Given the description of an element on the screen output the (x, y) to click on. 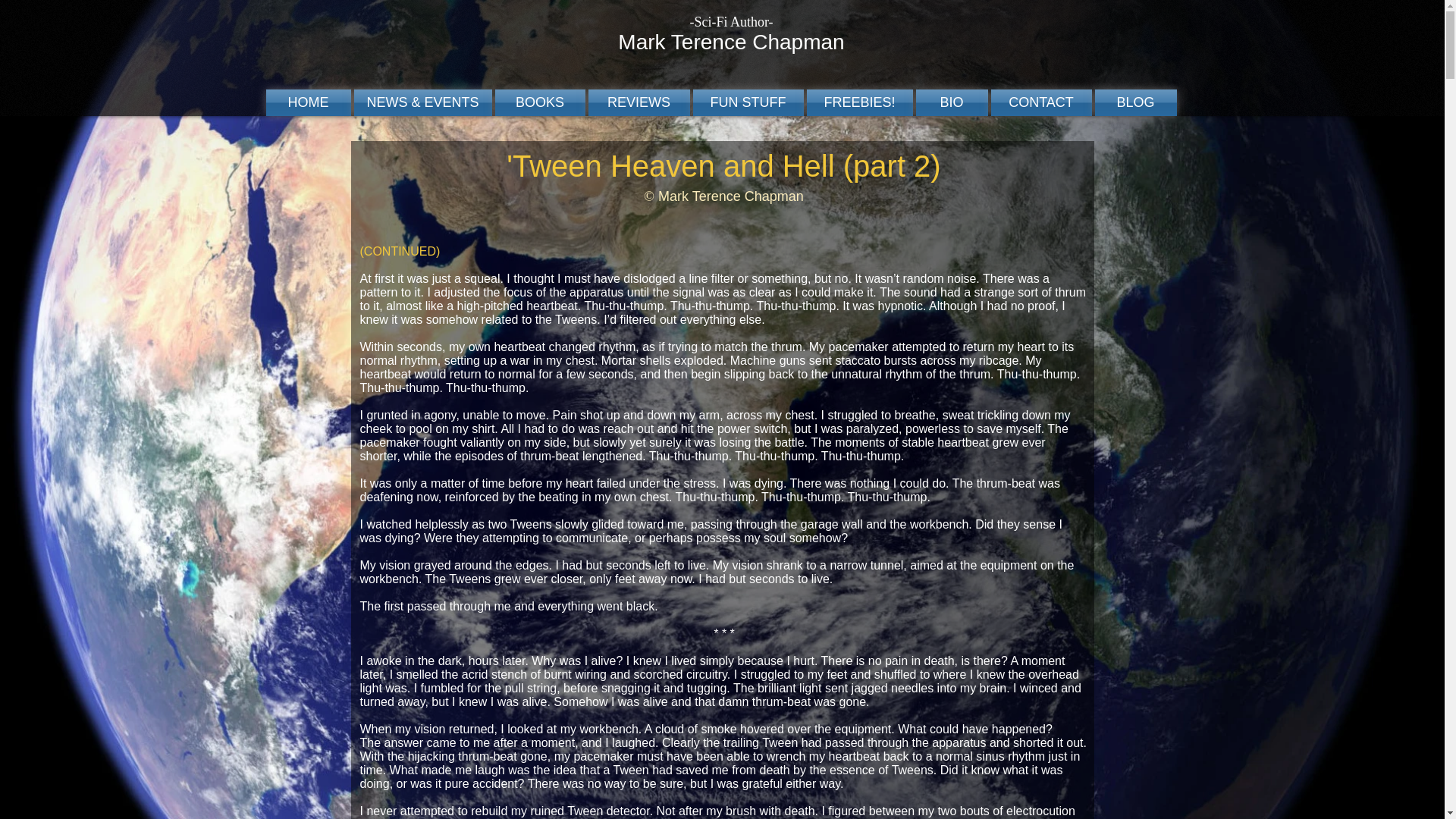
BIO (952, 102)
REVIEWS (638, 102)
HOME (308, 102)
FREEBIES! (859, 102)
CONTACT (1040, 102)
BOOKS (539, 102)
Mark Terence Chapman (730, 42)
Embedded Content (1186, 801)
BLOG (1134, 102)
Site Search (1018, 23)
